Given the description of an element on the screen output the (x, y) to click on. 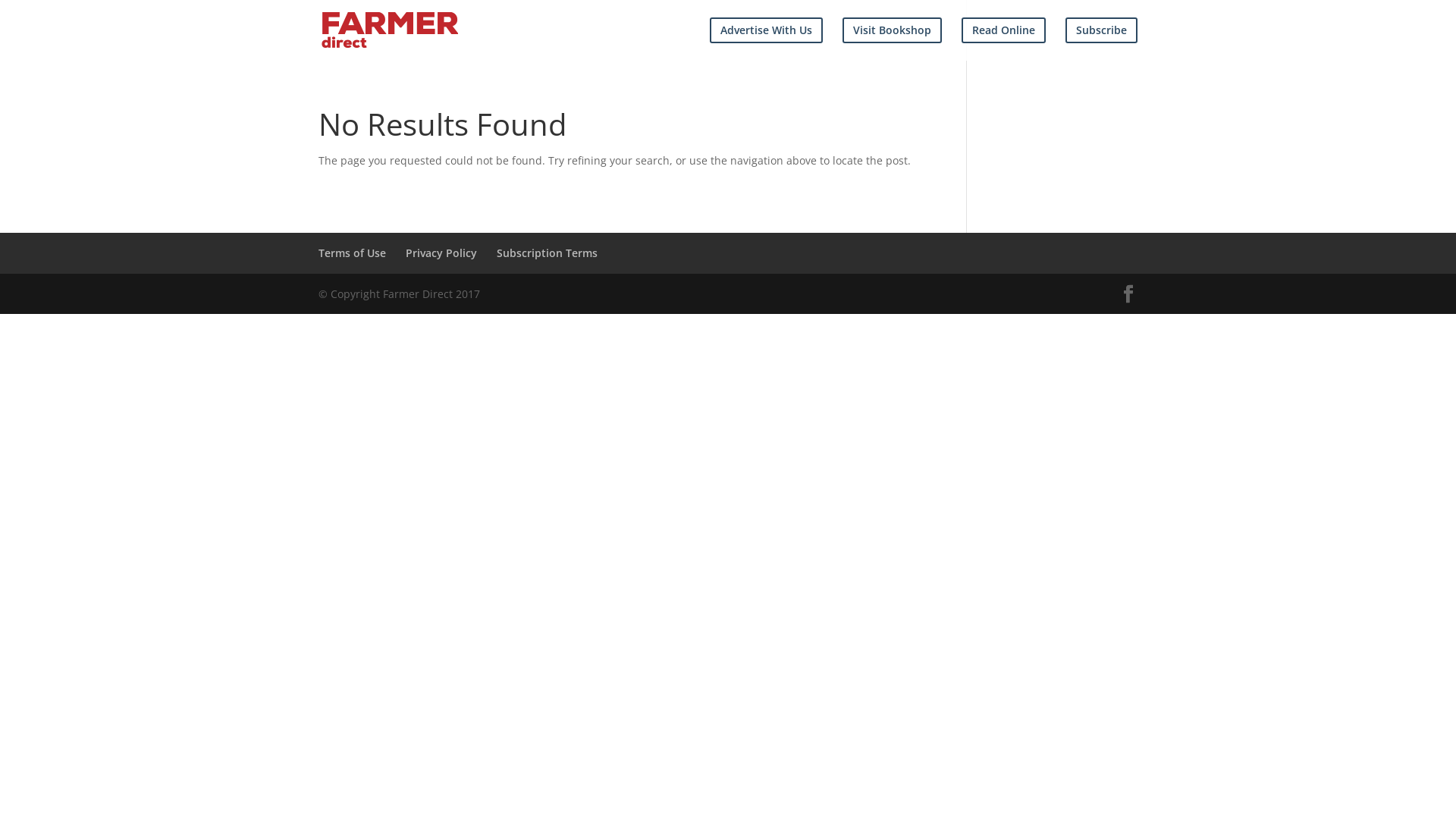
Privacy Policy Element type: text (440, 252)
Terms of Use Element type: text (351, 252)
Subscribe Element type: text (1101, 30)
Subscription Terms Element type: text (546, 252)
Visit Bookshop Element type: text (891, 30)
Advertise With Us Element type: text (765, 30)
Read Online Element type: text (1003, 30)
